Given the description of an element on the screen output the (x, y) to click on. 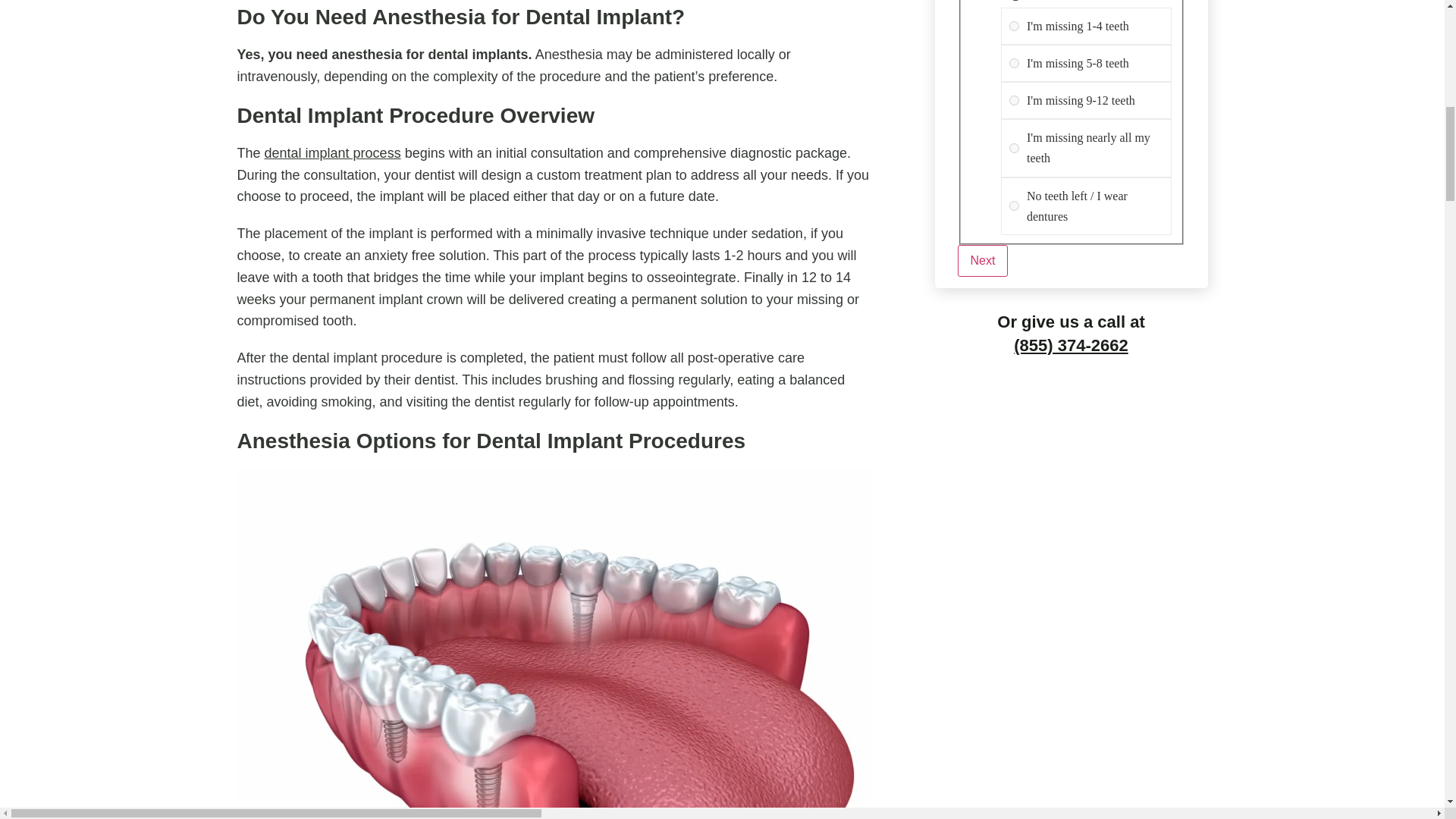
I'm missing 5-8 teeth (1014, 62)
I'm missing 1-4 teeth (1014, 26)
dental implant process (332, 152)
I'm missing nearly all my teeth (1014, 148)
I'm missing 9-12 teeth (1014, 100)
